Given the description of an element on the screen output the (x, y) to click on. 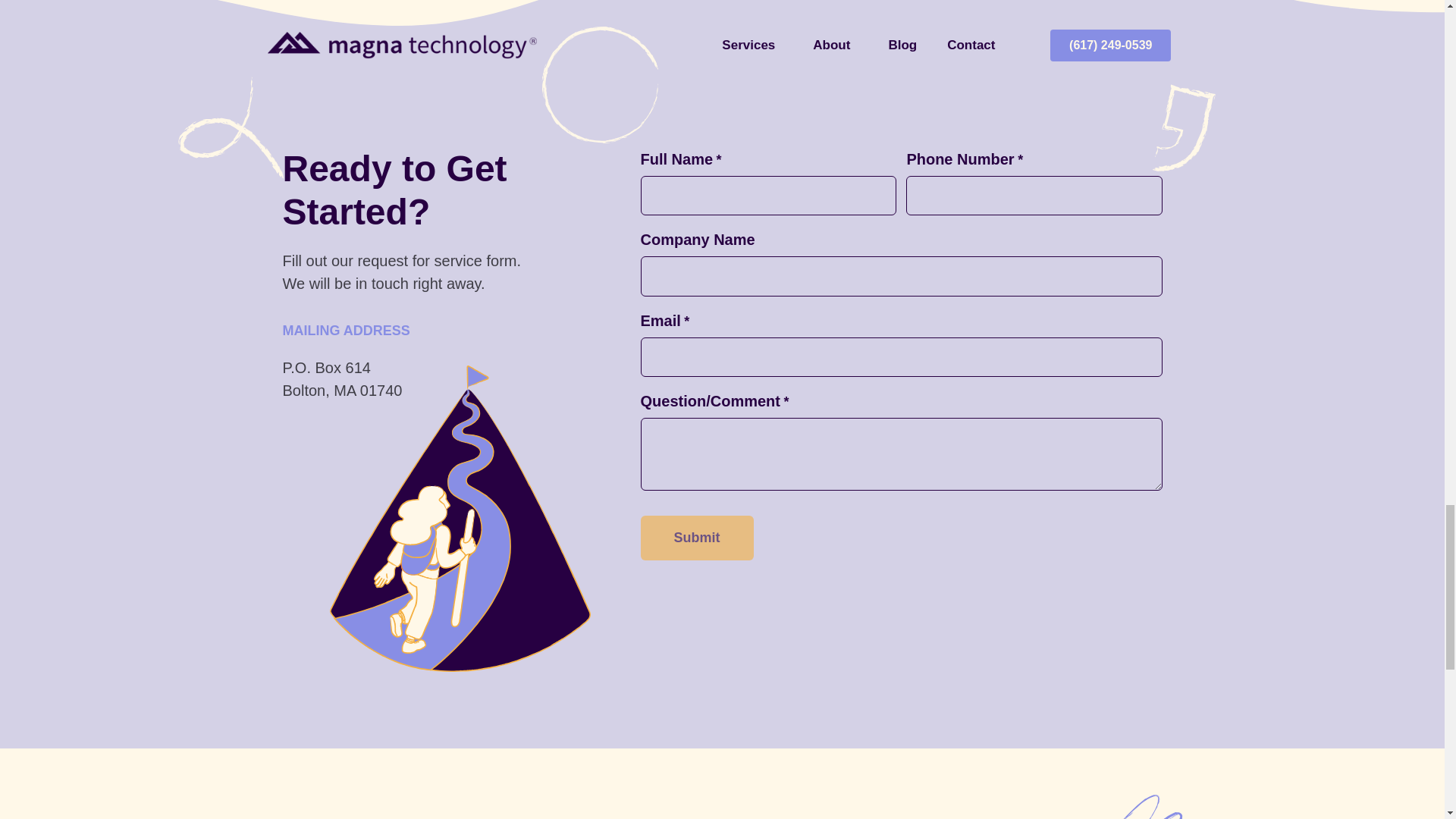
Submit (696, 537)
